Given the description of an element on the screen output the (x, y) to click on. 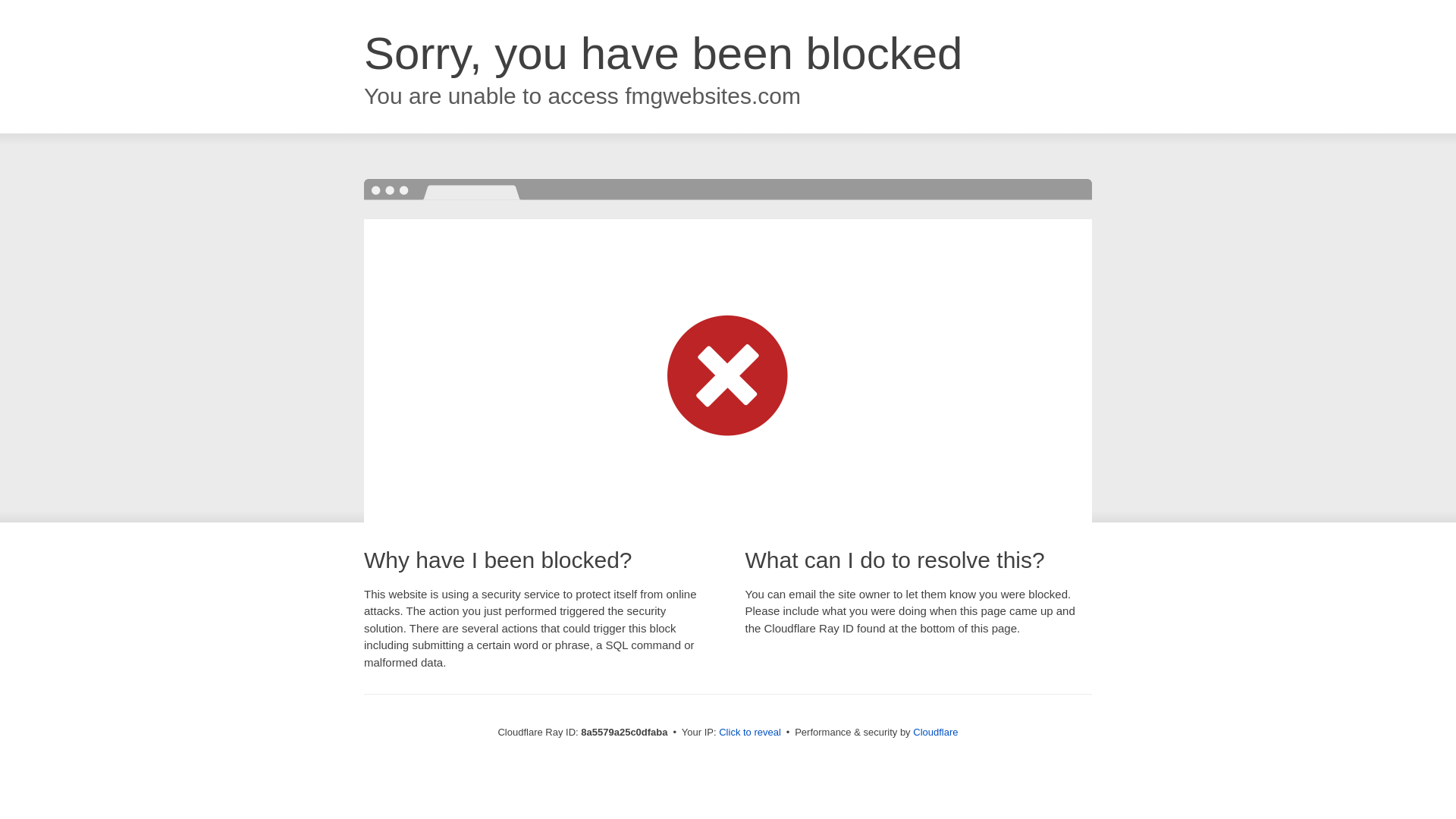
Click to reveal (749, 732)
Cloudflare (935, 731)
